Given the description of an element on the screen output the (x, y) to click on. 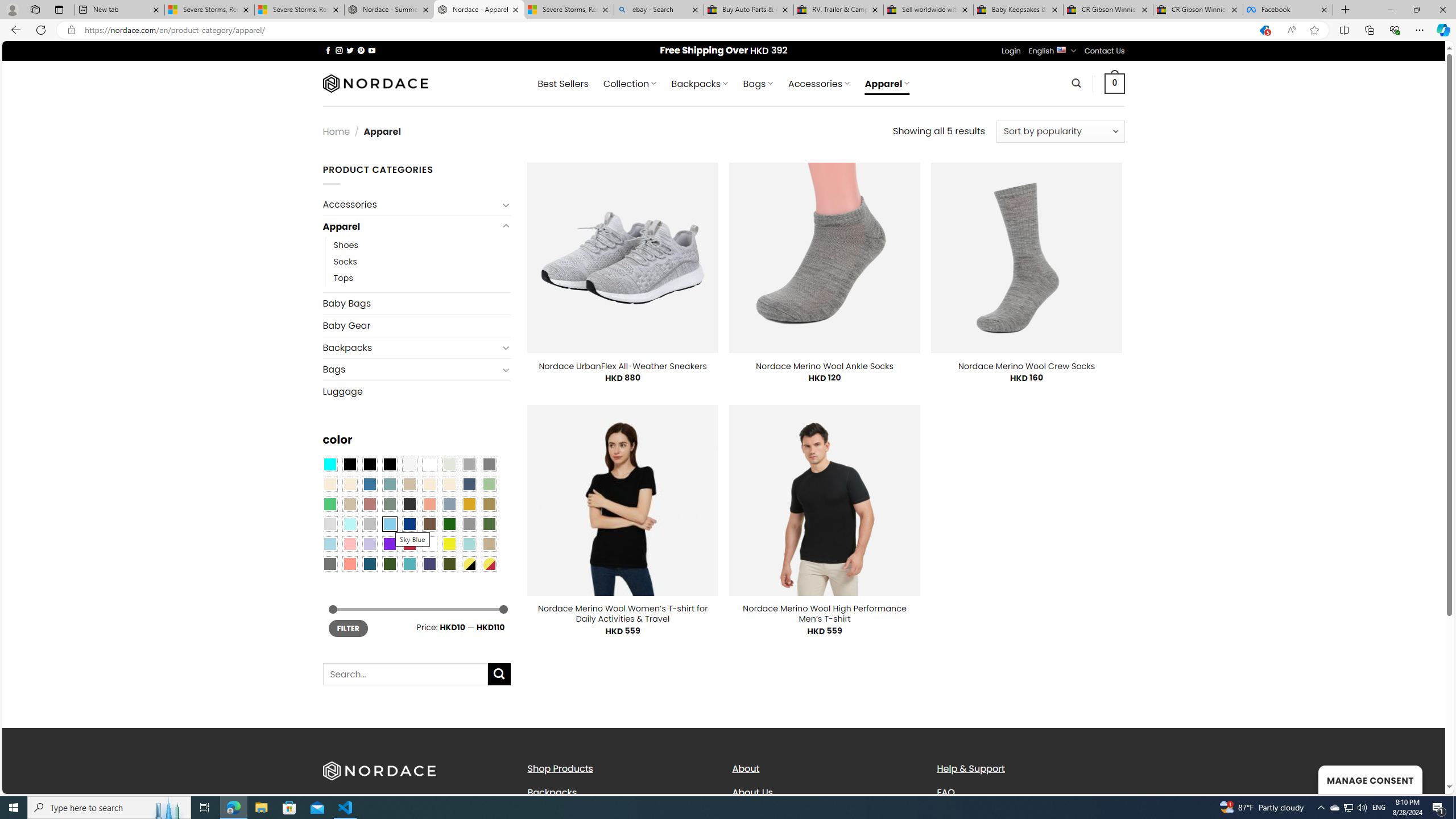
Socks (344, 262)
Coral (429, 503)
Light Gray (329, 523)
Black-Brown (389, 464)
Blue Sage (389, 483)
Army Green (449, 563)
All Gray (488, 464)
